Given the description of an element on the screen output the (x, y) to click on. 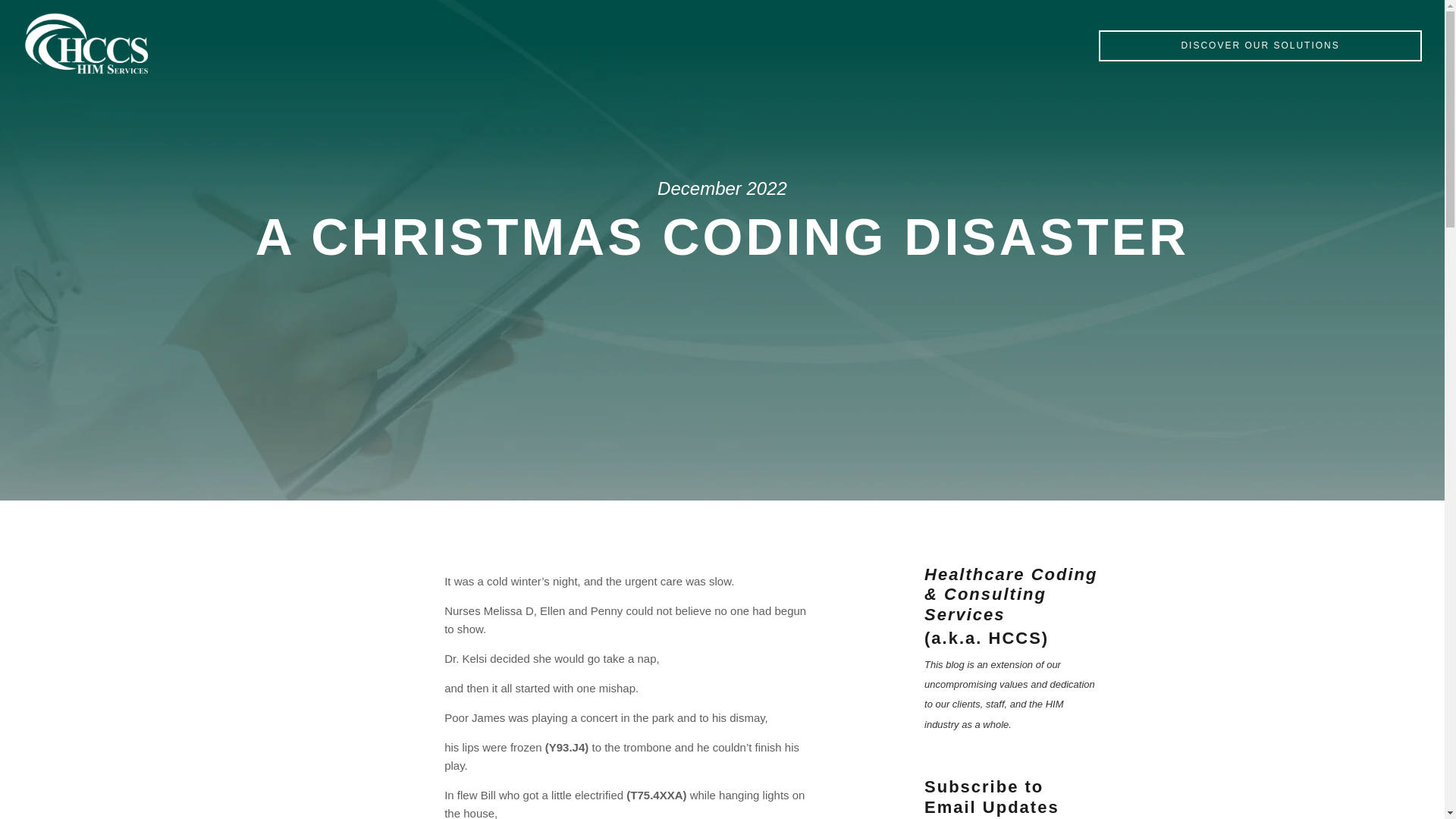
DISCOVER OUR SOLUTIONS (1260, 45)
Discover our solutions (1260, 45)
HCCSLogo-TransBG-HIMServices - White-1.png (87, 43)
